Given the description of an element on the screen output the (x, y) to click on. 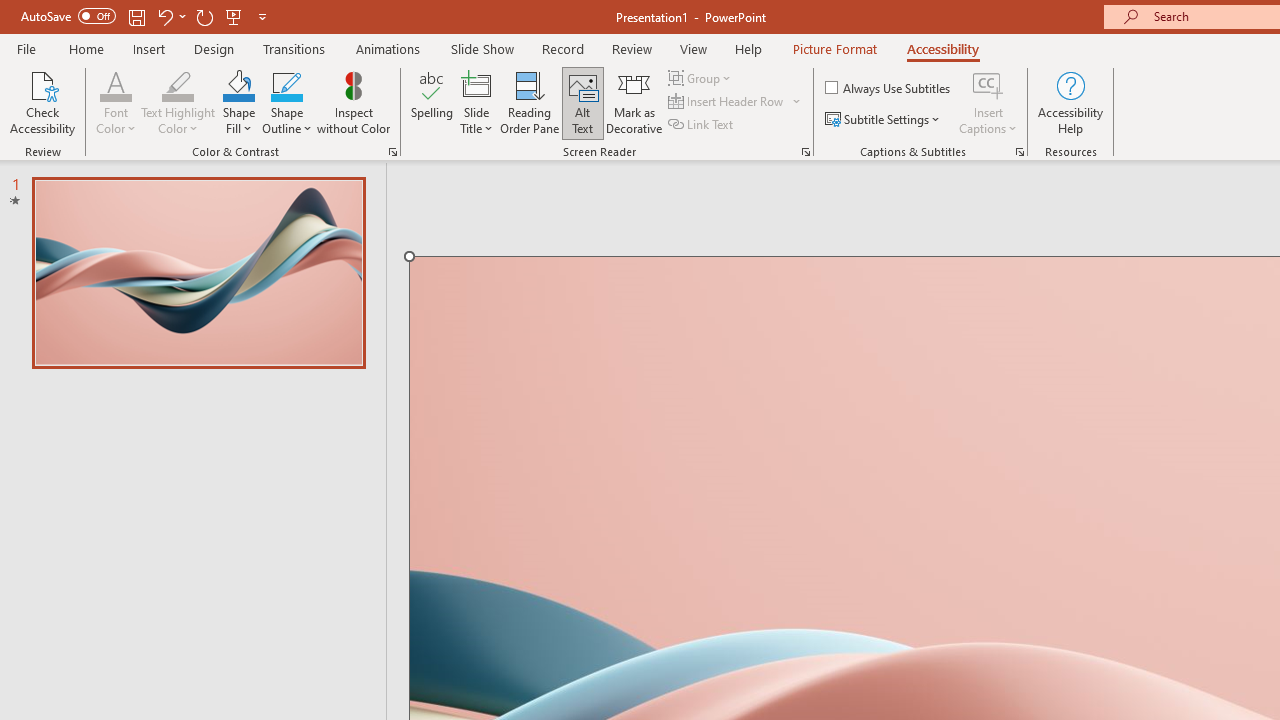
Link Text (702, 124)
